Given the description of an element on the screen output the (x, y) to click on. 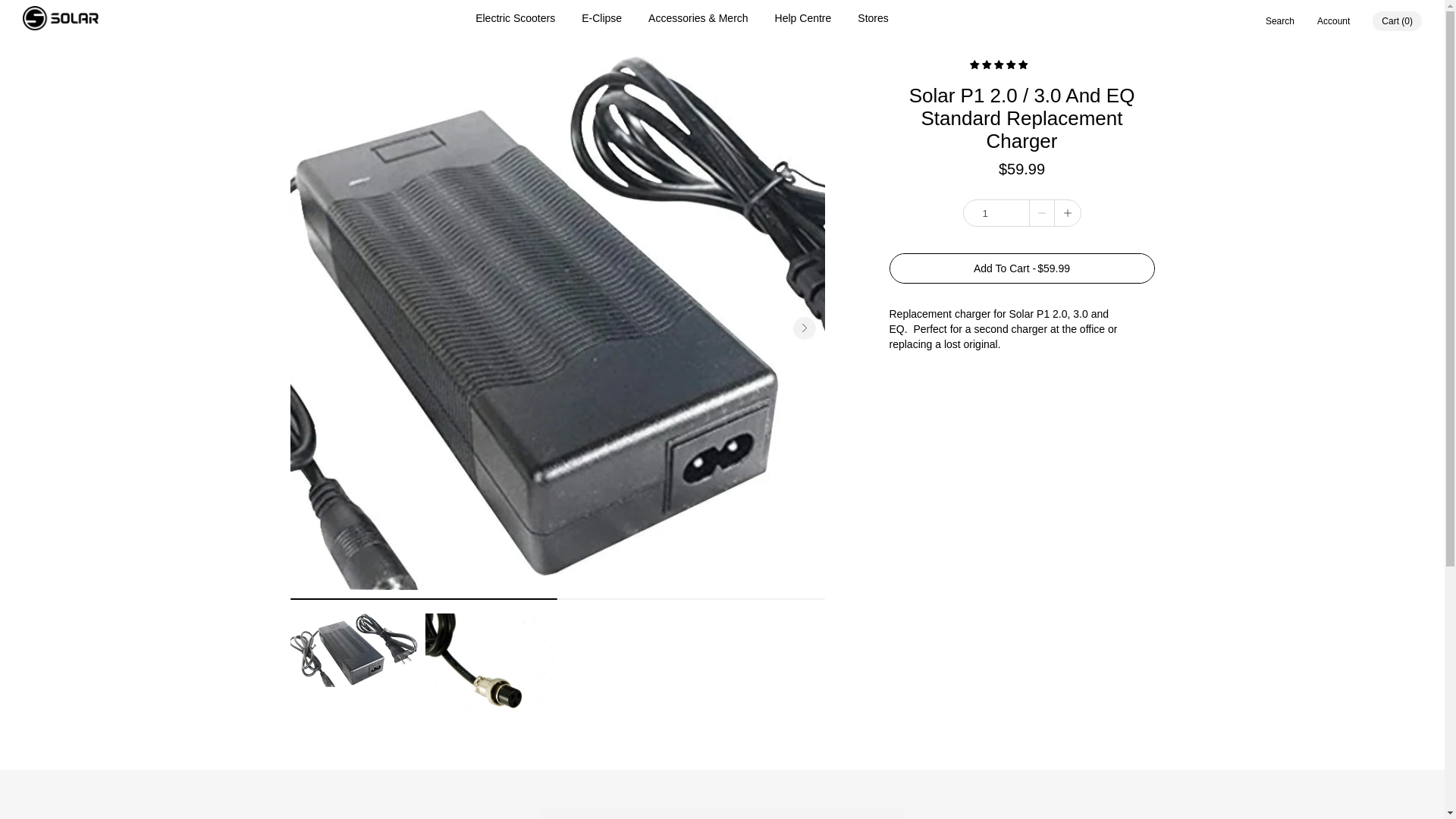
E-Clipse (600, 18)
Electric Scooters (515, 18)
Help Centre (802, 18)
1 (994, 212)
Solar Scooters US (61, 20)
